Given the description of an element on the screen output the (x, y) to click on. 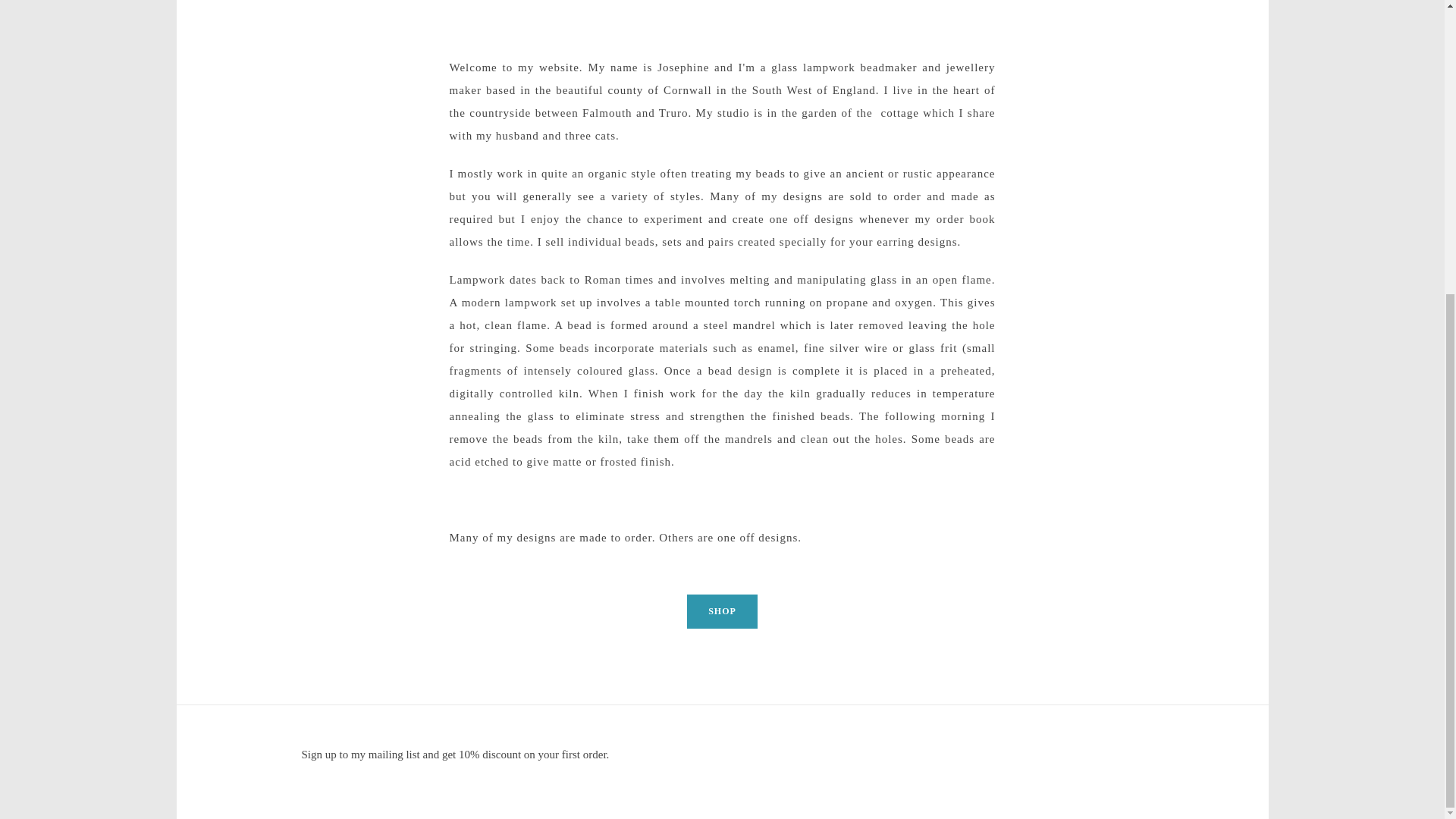
SHOP (722, 611)
Buy handmade glass lampwork beads (722, 611)
